Given the description of an element on the screen output the (x, y) to click on. 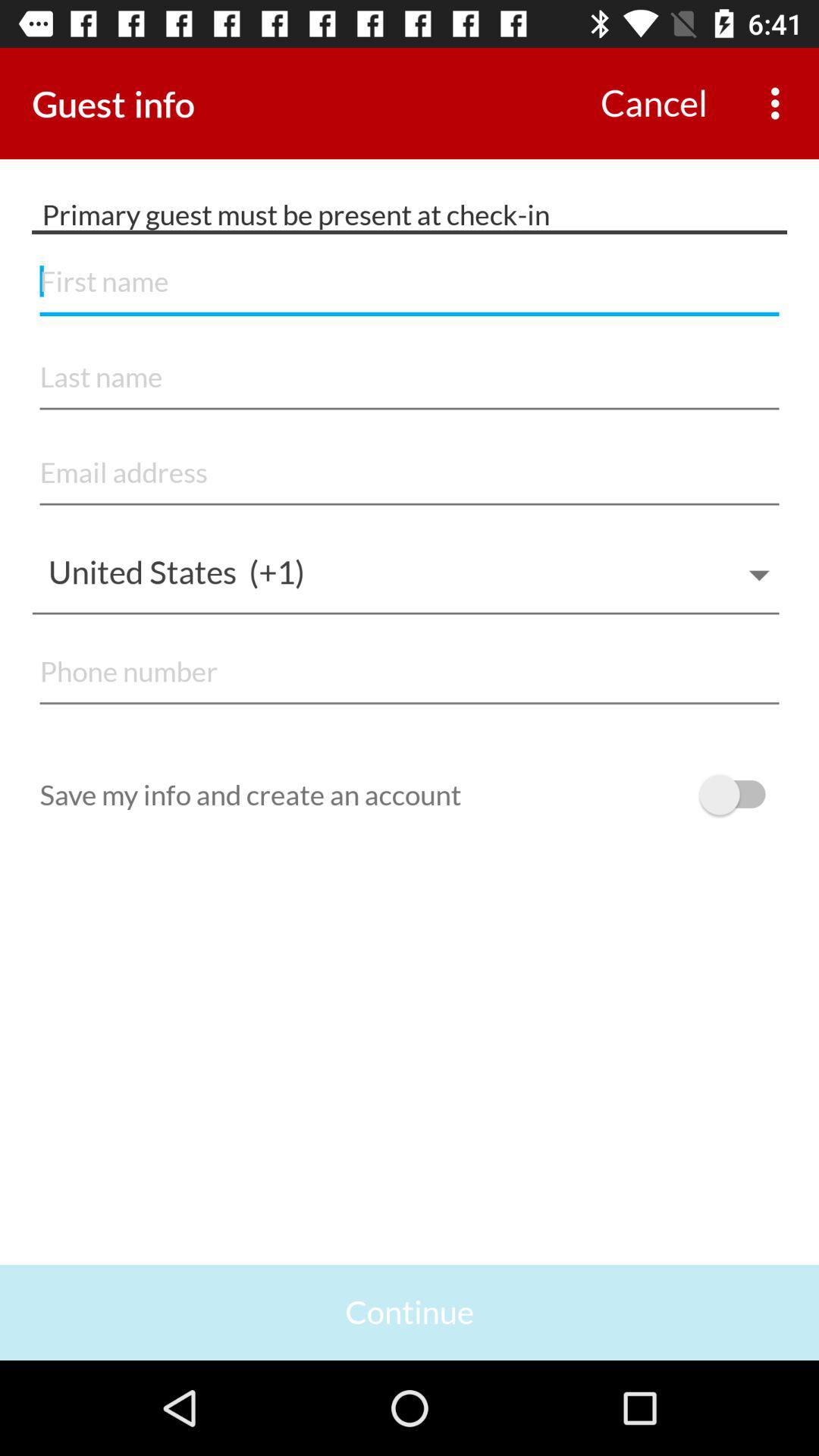
off on (739, 794)
